Given the description of an element on the screen output the (x, y) to click on. 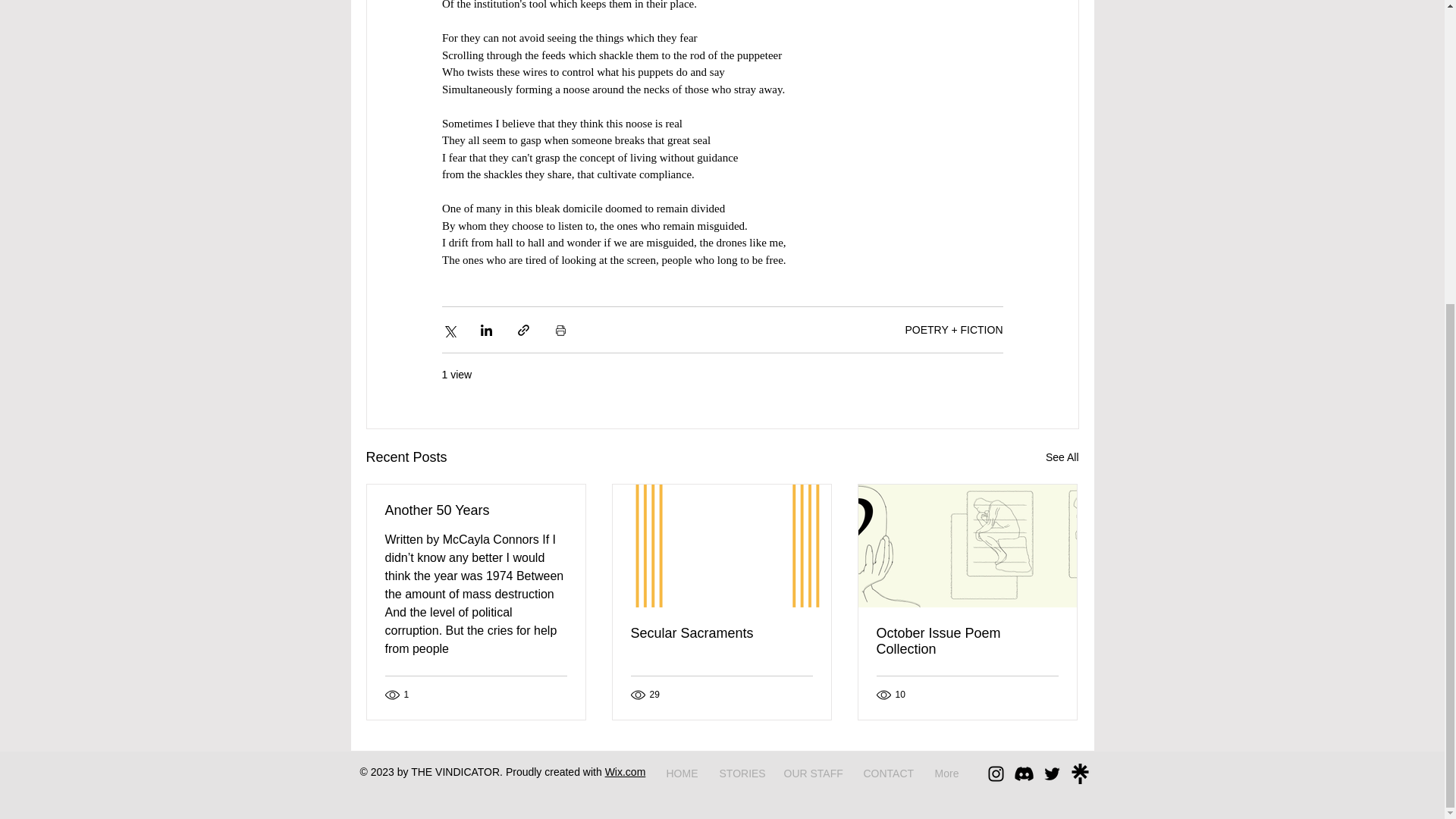
THE VINDICATOR (454, 771)
STORIES (740, 773)
Another 50 Years (476, 510)
HOME (681, 773)
Wix.com (625, 771)
October Issue Poem Collection (967, 641)
Secular Sacraments (721, 633)
CONTACT (887, 773)
See All (1061, 457)
OUR STAFF (811, 773)
